Given the description of an element on the screen output the (x, y) to click on. 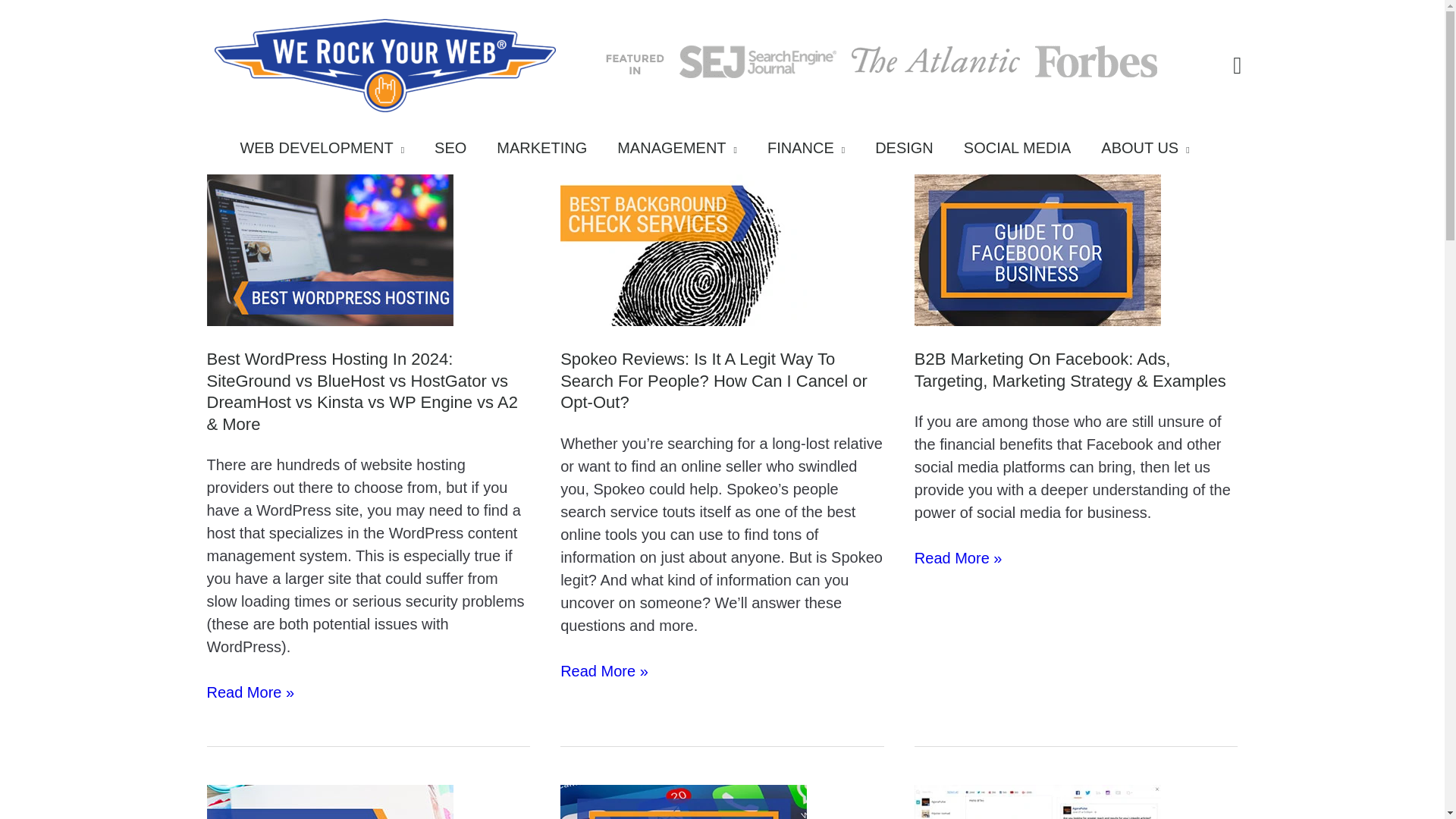
MARKETING (549, 151)
WEB DEVELOPMENT (328, 151)
SOCIAL MEDIA (1025, 151)
DESIGN (911, 151)
SEO (457, 151)
FINANCE (813, 151)
MANAGEMENT (685, 151)
ABOUT US (1152, 151)
